Given the description of an element on the screen output the (x, y) to click on. 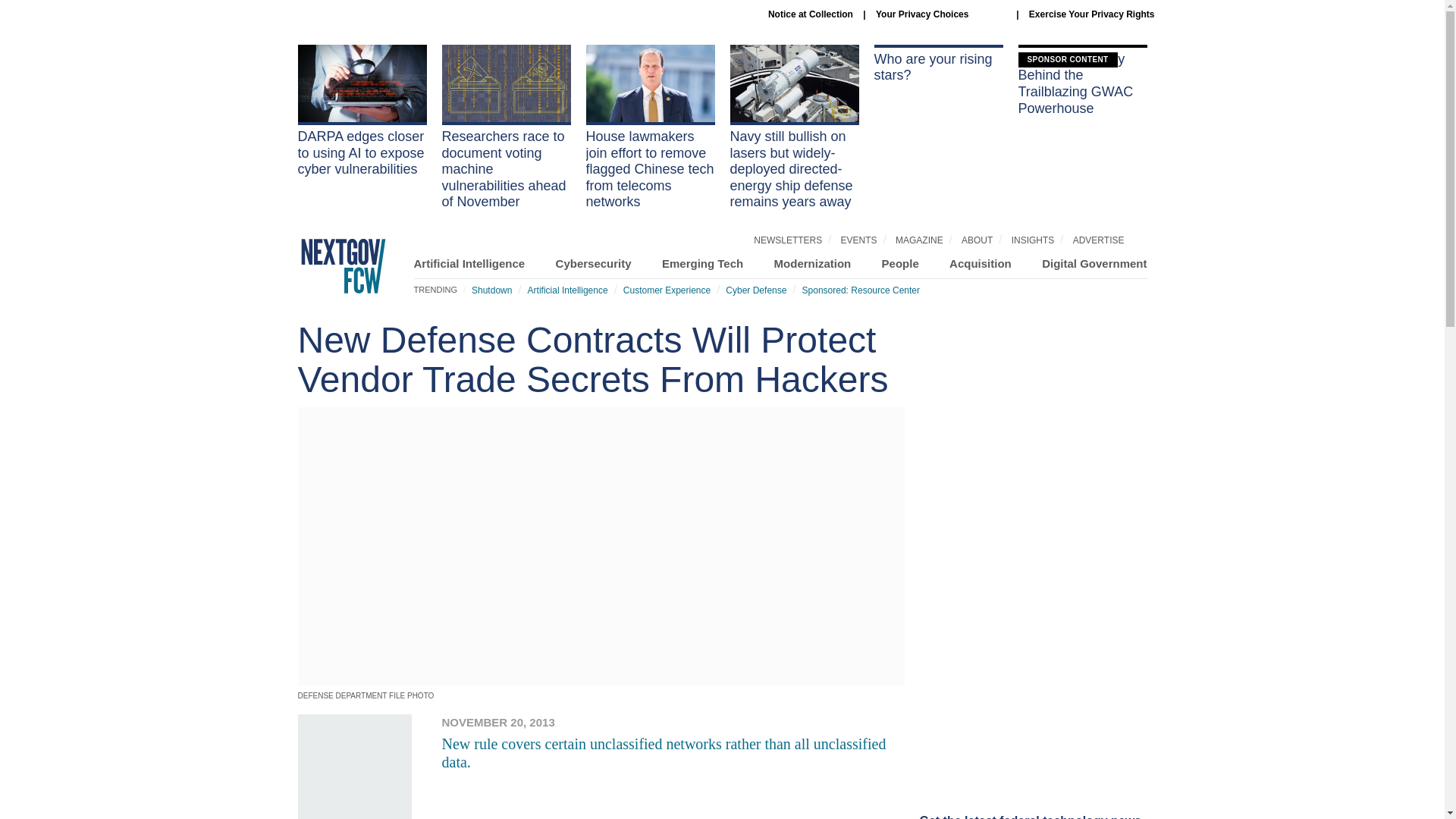
Sponsored: Resource Center (861, 290)
Shutdown (491, 290)
EVENTS (859, 240)
Emerging Tech (702, 263)
Customer Experience (666, 290)
Cyber Defense (755, 290)
Modernization (812, 263)
NEWSLETTERS (788, 240)
Who are your rising stars? (938, 64)
Digital Government (1094, 263)
